Given the description of an element on the screen output the (x, y) to click on. 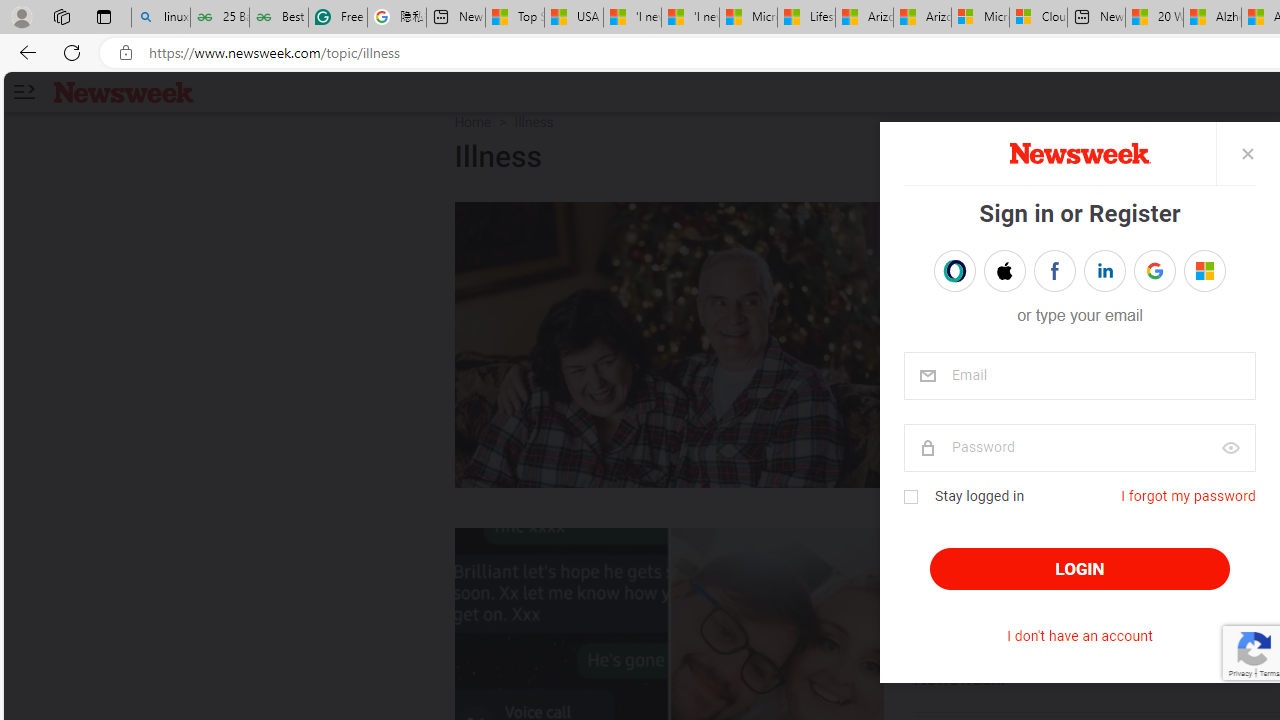
Personal Profile (21, 16)
